Given the description of an element on the screen output the (x, y) to click on. 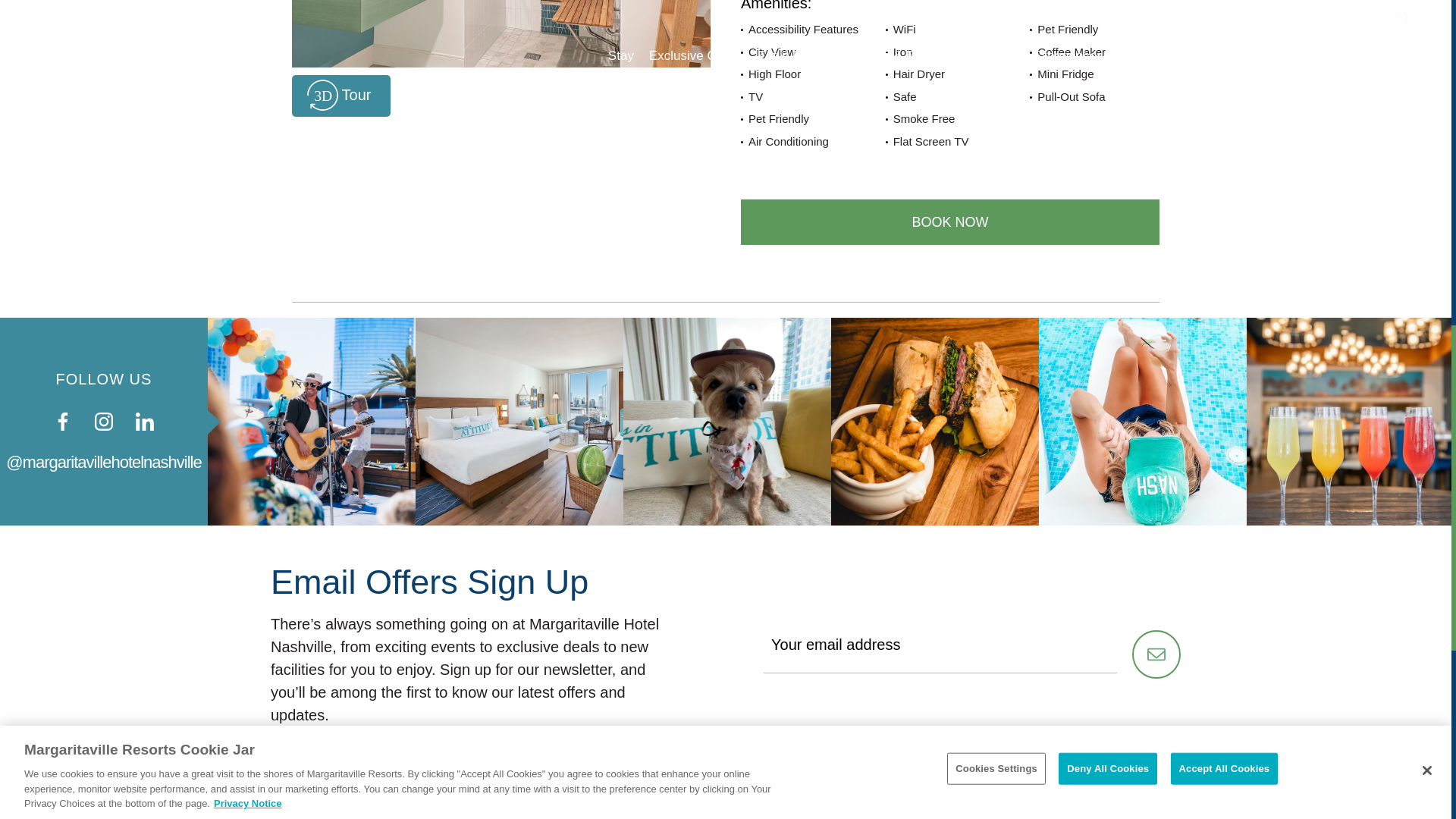
Sign Up (1156, 653)
3-d Tour (341, 95)
